Given the description of an element on the screen output the (x, y) to click on. 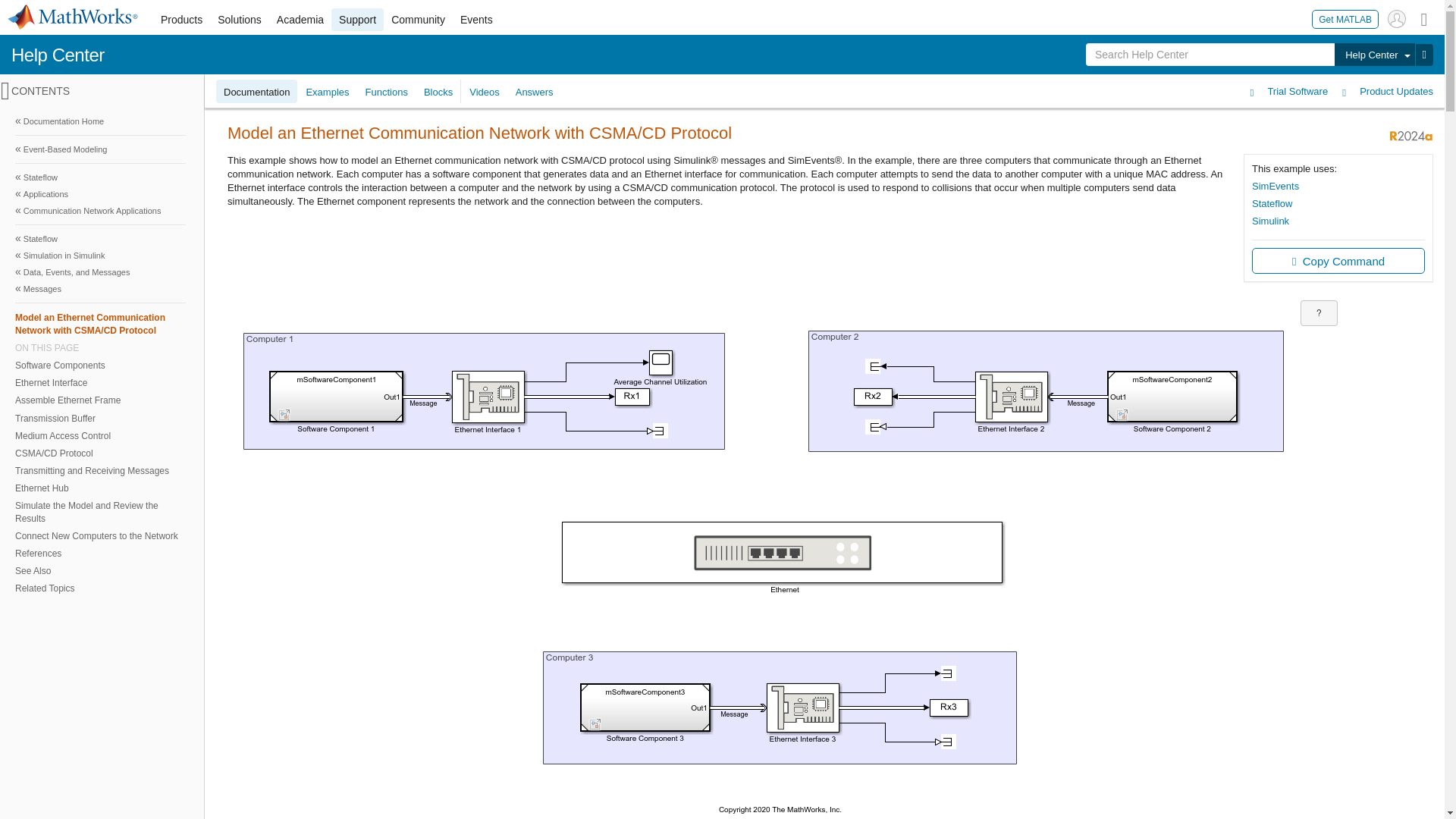
Applications (100, 193)
Help Center (1374, 54)
Events (476, 19)
Documentation Home (100, 121)
ON THIS PAGE (100, 347)
Help Center (57, 54)
Academia (300, 19)
Event-Based Modeling (100, 149)
Communication Network Applications (100, 210)
Support (357, 19)
Matrix Menu (1423, 18)
Solutions (239, 19)
Get MATLAB (1344, 18)
Products (180, 19)
Stateflow (100, 176)
